Given the description of an element on the screen output the (x, y) to click on. 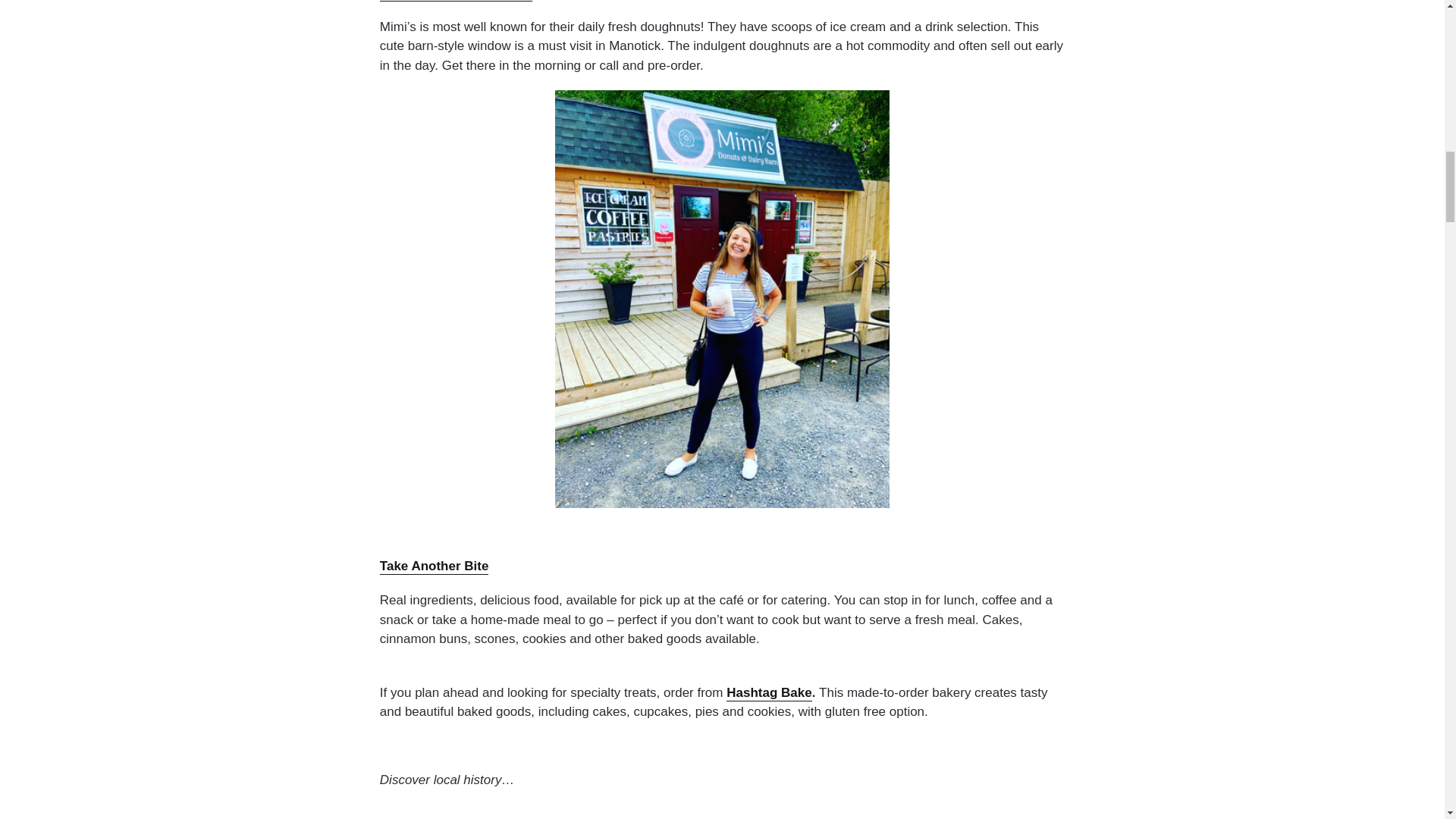
Hashtag Bake (768, 693)
Hashtag Bake Ottawa (768, 693)
Take Another Bite Ottawa, Manotick bakery (434, 566)
Take Another Bite (434, 566)
